Given the description of an element on the screen output the (x, y) to click on. 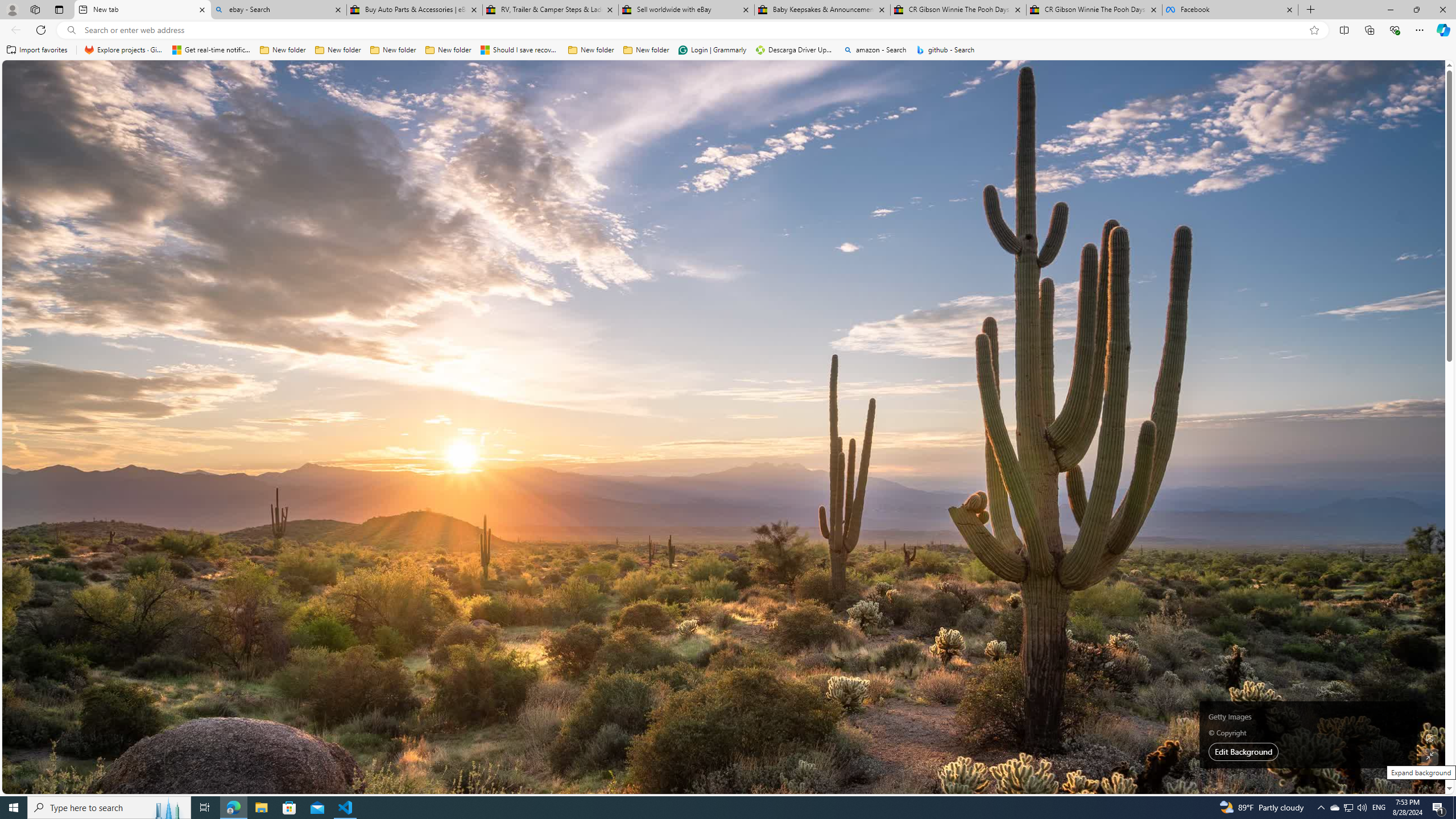
Play Now (1078, 689)
3 Like (655, 326)
Login | Grammarly (712, 49)
Dailymotion (647, 288)
More Options (886, 101)
The History of the Windows Start Menu (457, 307)
Humidity 84% (1150, 208)
